Given the description of an element on the screen output the (x, y) to click on. 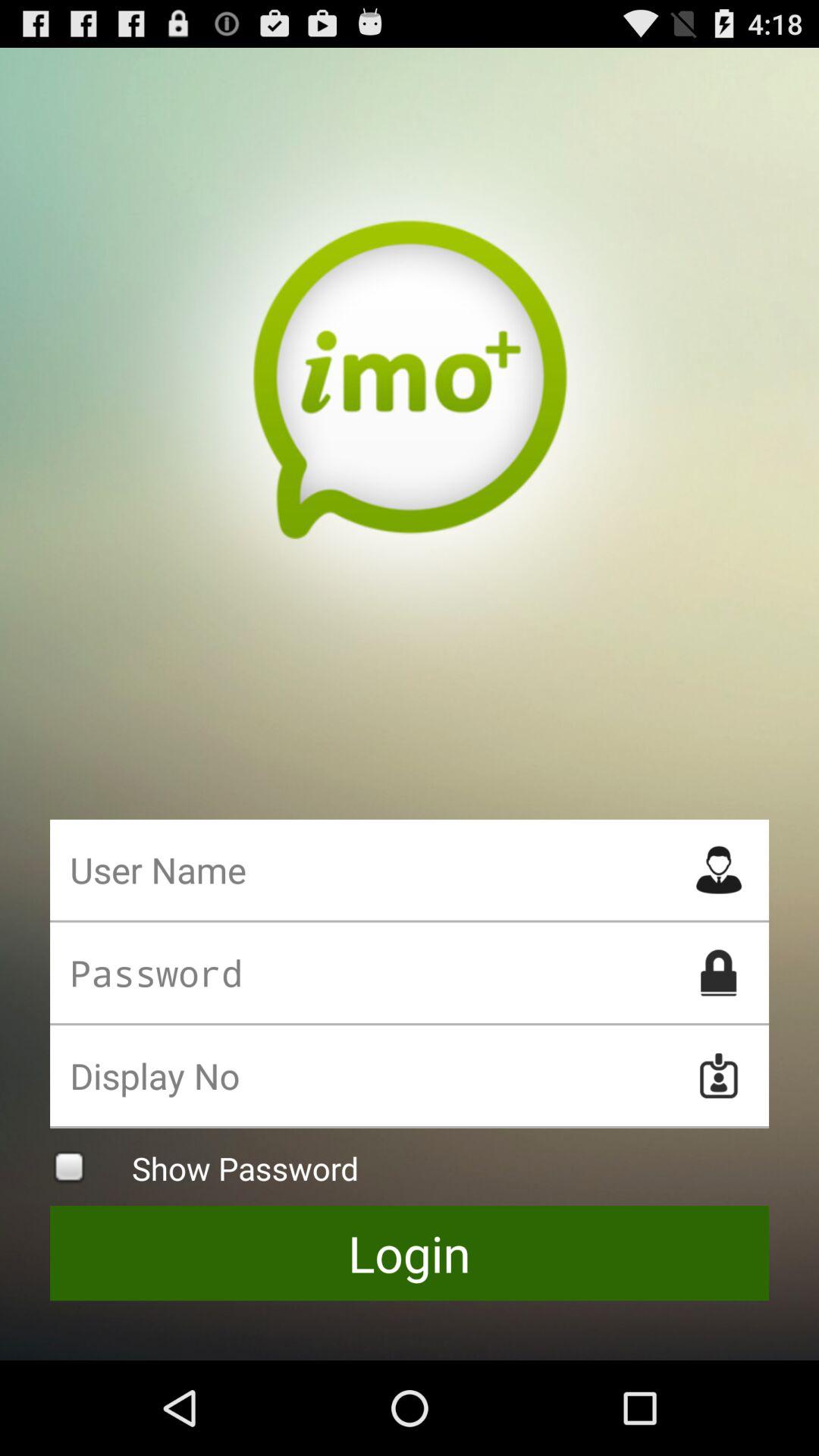
flip until the show password icon (409, 1166)
